Given the description of an element on the screen output the (x, y) to click on. 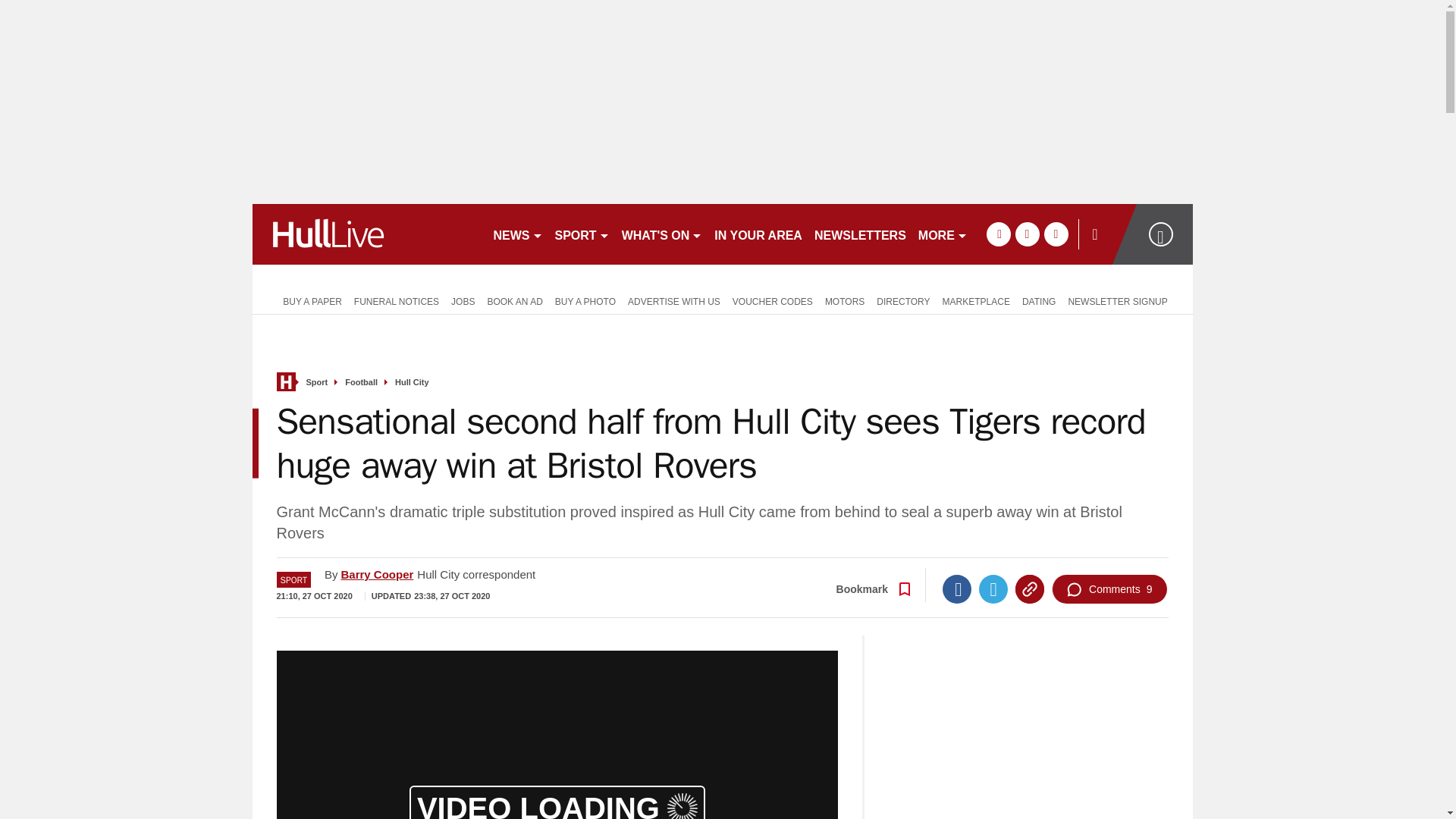
Facebook (956, 588)
twitter (1026, 233)
MORE (943, 233)
WHAT'S ON (662, 233)
Twitter (992, 588)
SPORT (581, 233)
instagram (1055, 233)
Comments (1108, 588)
facebook (997, 233)
NEWS (517, 233)
